Given the description of an element on the screen output the (x, y) to click on. 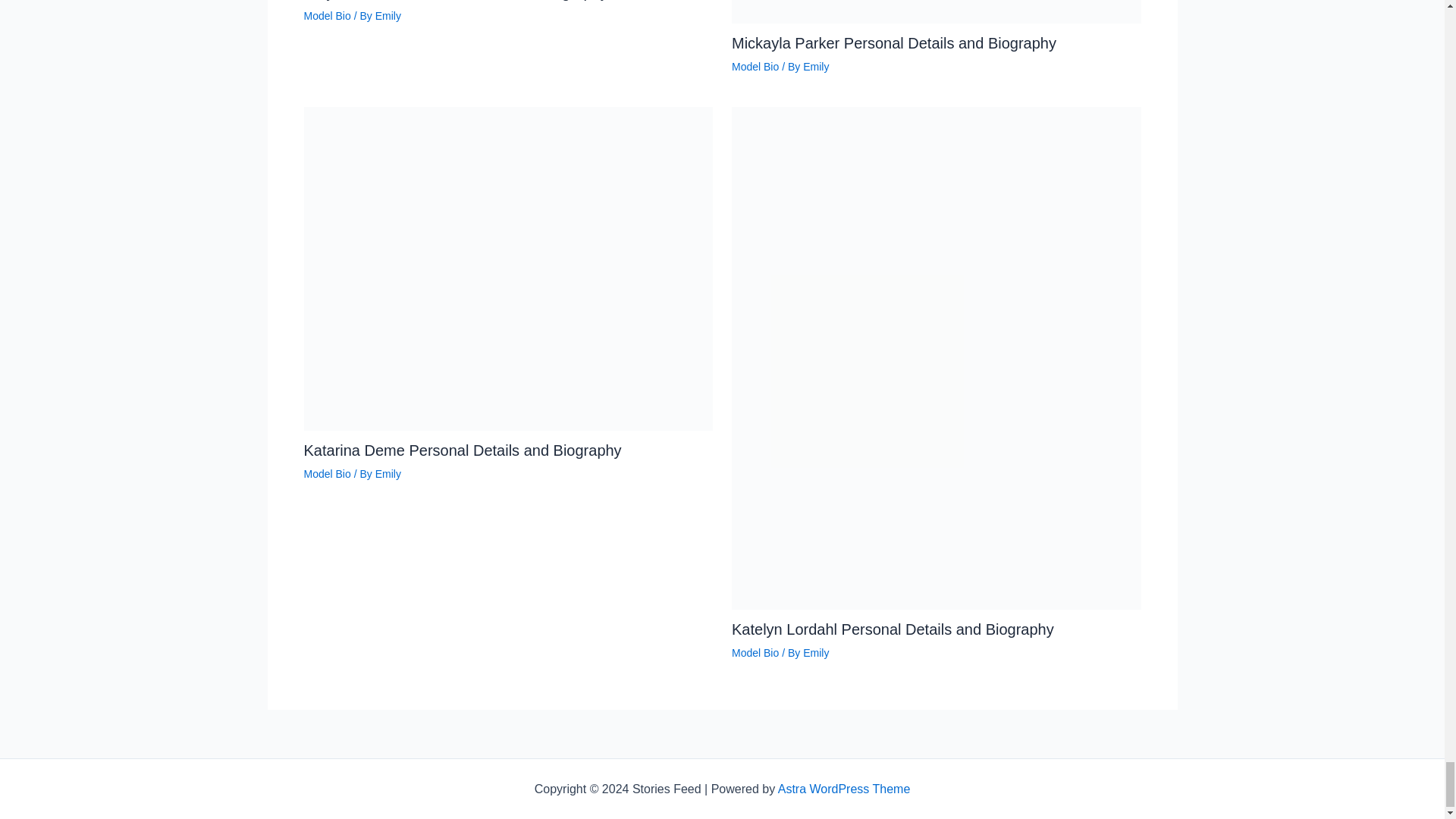
Model Bio (326, 473)
Emily (815, 653)
Model Bio (755, 66)
Model Bio (755, 653)
Model Bio (326, 15)
Katelyn Lordahl Personal Details and Biography (893, 629)
View all posts by Emily (815, 653)
Mickayla Parker Personal Details and Biography (894, 43)
Emily (815, 66)
View all posts by Emily (815, 66)
Emily (388, 15)
Astra WordPress Theme (844, 788)
View all posts by Emily (388, 473)
Emily (388, 473)
